Given the description of an element on the screen output the (x, y) to click on. 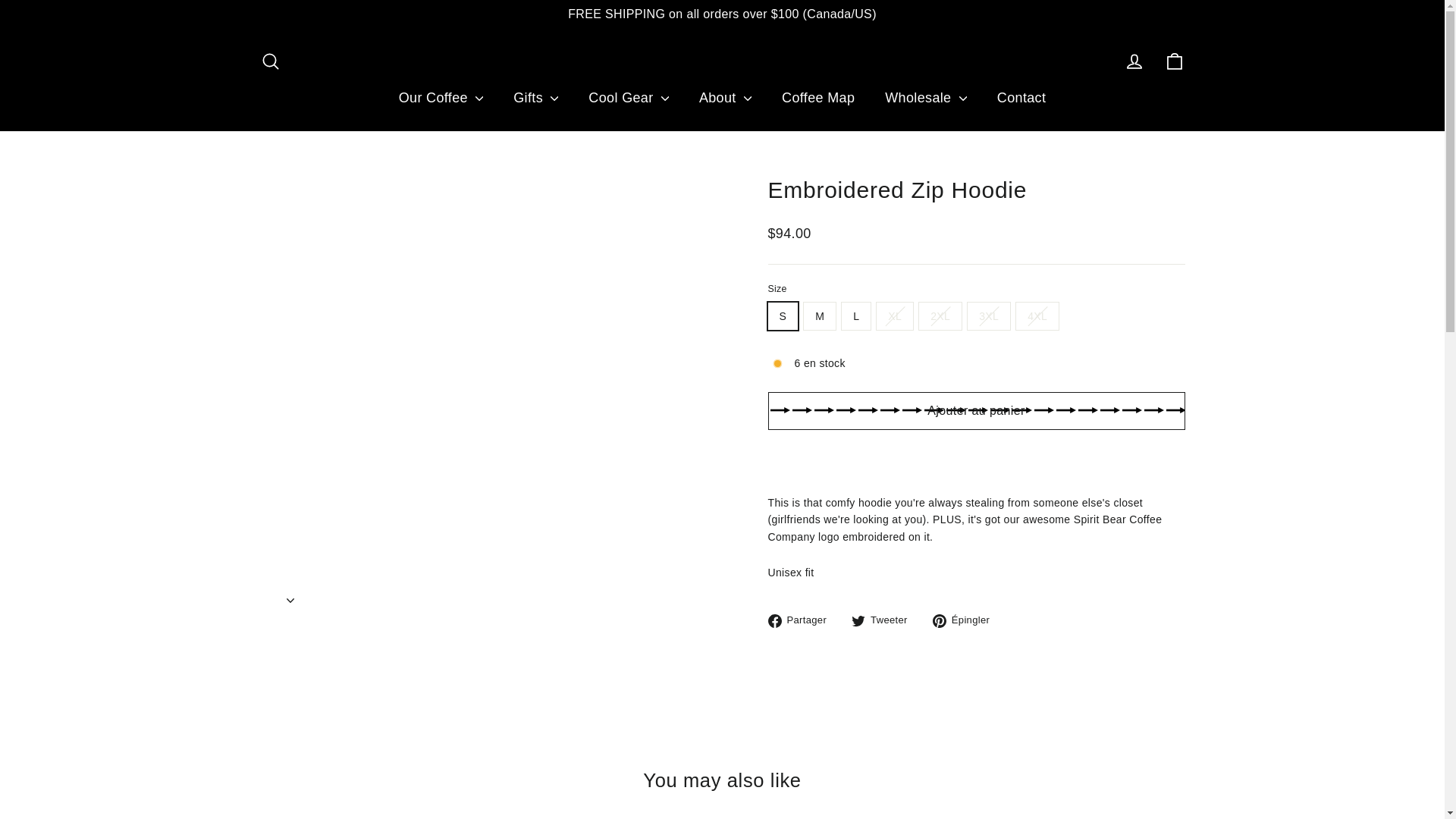
Tweeter sur Twitter (884, 620)
Partager sur Facebook (802, 620)
